Given the description of an element on the screen output the (x, y) to click on. 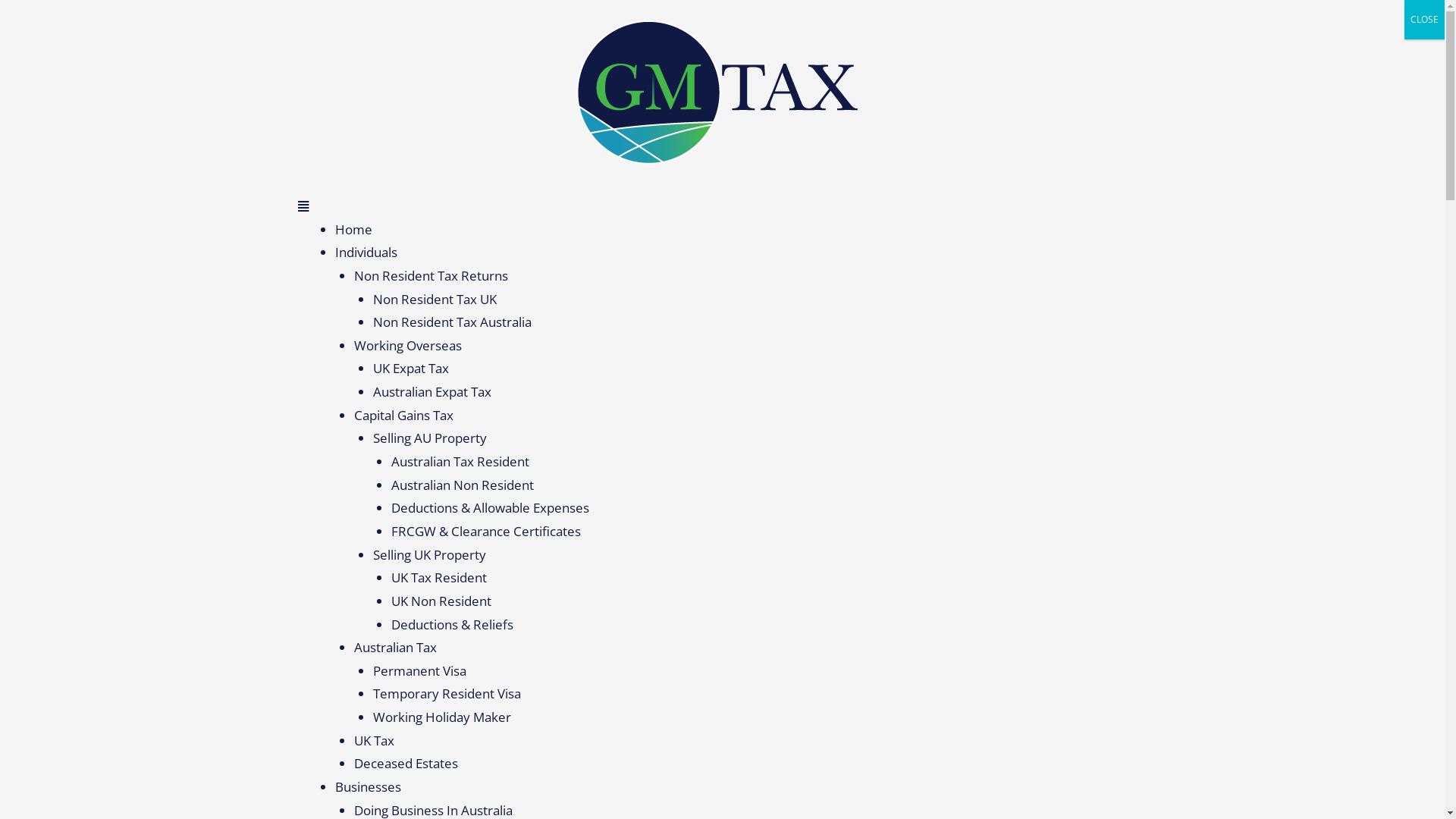
Individuals Element type: text (366, 251)
Australian Expat Tax Element type: text (432, 391)
UK Tax Element type: text (374, 740)
Australian Tax Element type: text (395, 646)
FRCGW & Clearance Certificates Element type: text (485, 530)
Non Resident Tax Returns Element type: text (431, 275)
Deductions & Reliefs Element type: text (452, 624)
Selling UK Property Element type: text (429, 554)
Working Overseas Element type: text (407, 345)
Working Holiday Maker Element type: text (442, 716)
Home Element type: text (353, 229)
Australian Non Resident Element type: text (462, 484)
Capital Gains Tax Element type: text (403, 414)
UK Expat Tax Element type: text (410, 367)
Non Resident Tax Australia Element type: text (452, 321)
Temporary Resident Visa Element type: text (446, 693)
CLOSE Element type: text (1424, 19)
Non Resident Tax UK Element type: text (434, 298)
Businesses Element type: text (368, 786)
Deductions & Allowable Expenses Element type: text (490, 507)
Deceased Estates Element type: text (406, 762)
Australian Tax Resident Element type: text (460, 461)
UK Non Resident Element type: text (441, 600)
UK Tax Resident Element type: text (438, 577)
Permanent Visa Element type: text (419, 670)
Selling AU Property Element type: text (429, 437)
